Given the description of an element on the screen output the (x, y) to click on. 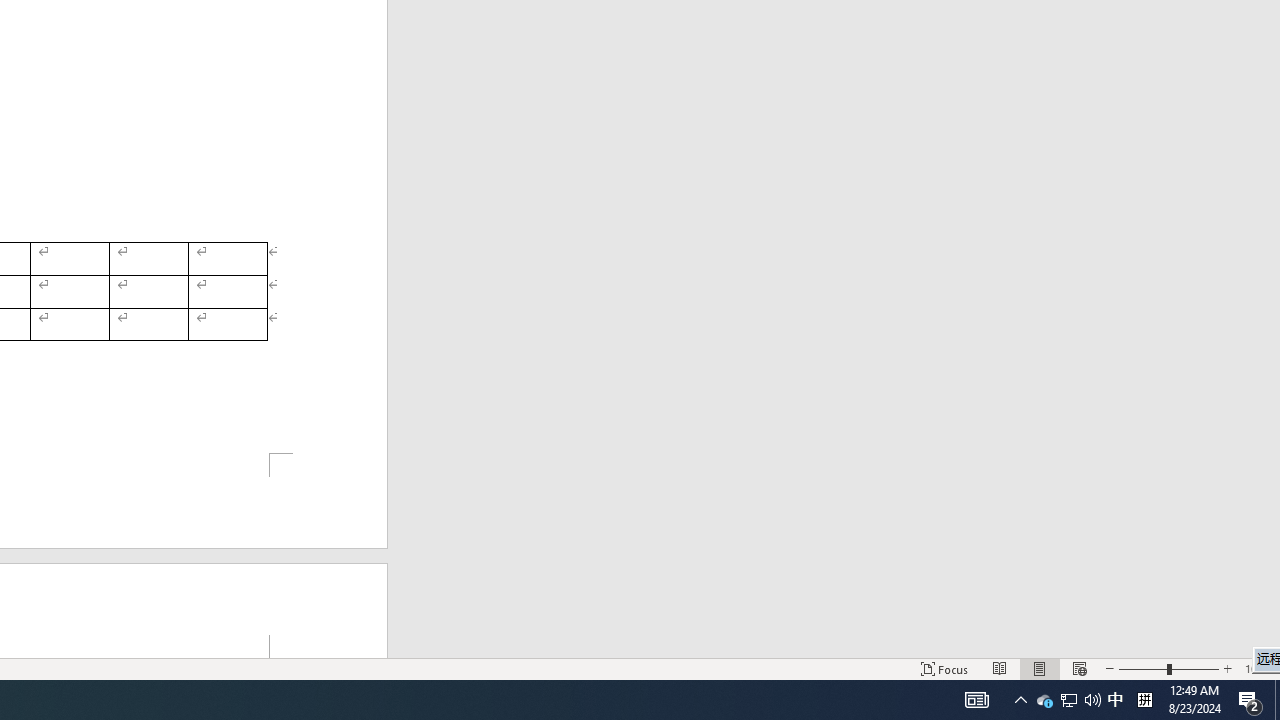
Zoom 100% (1258, 668)
